Given the description of an element on the screen output the (x, y) to click on. 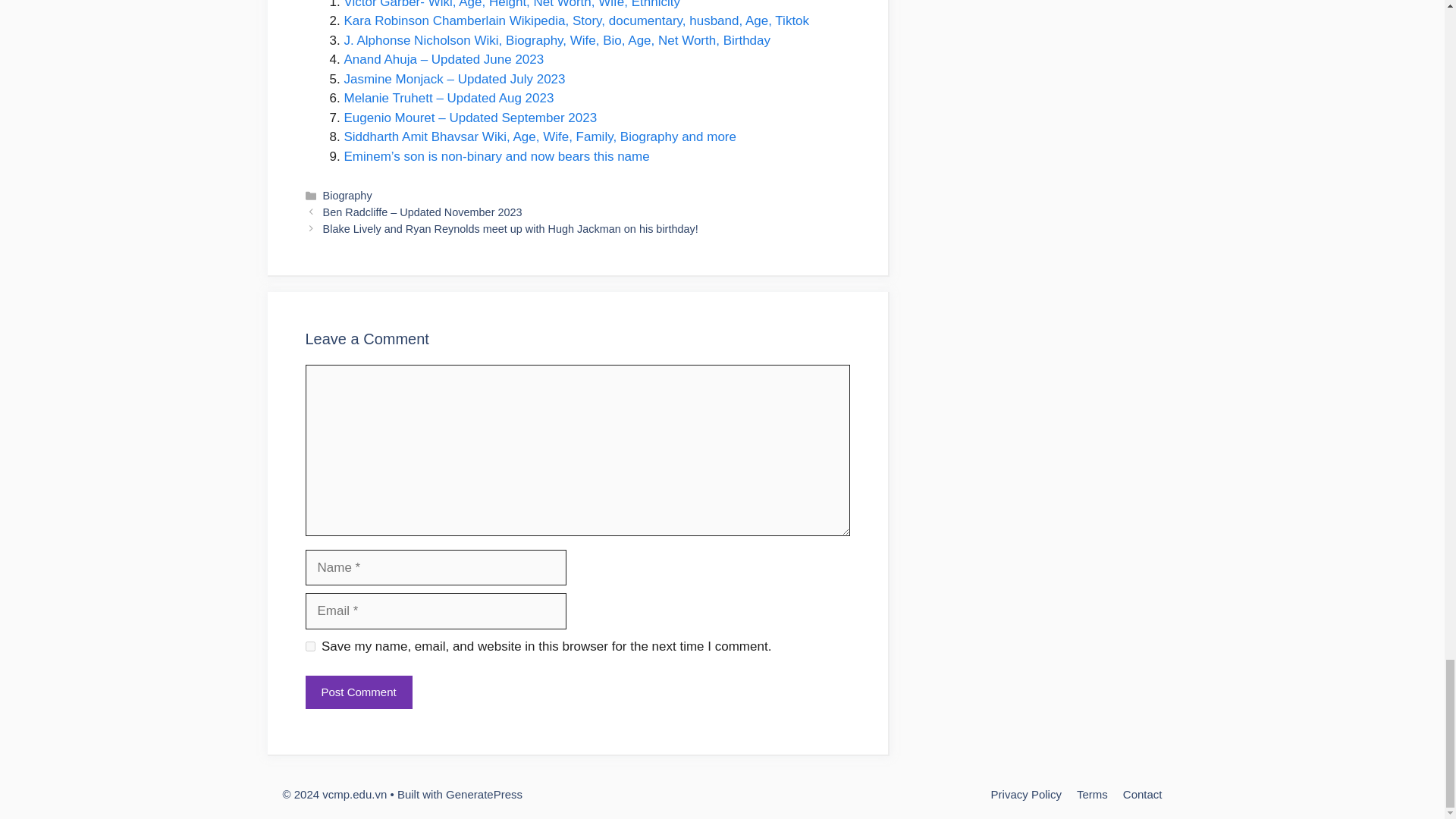
Victor Garber- Wiki, Age, Height, Net Worth, Wife, Ethnicity (511, 4)
Post Comment (358, 692)
Biography (347, 195)
yes (309, 646)
Victor Garber- Wiki, Age, Height, Net Worth, Wife, Ethnicity (511, 4)
Post Comment (358, 692)
